Given the description of an element on the screen output the (x, y) to click on. 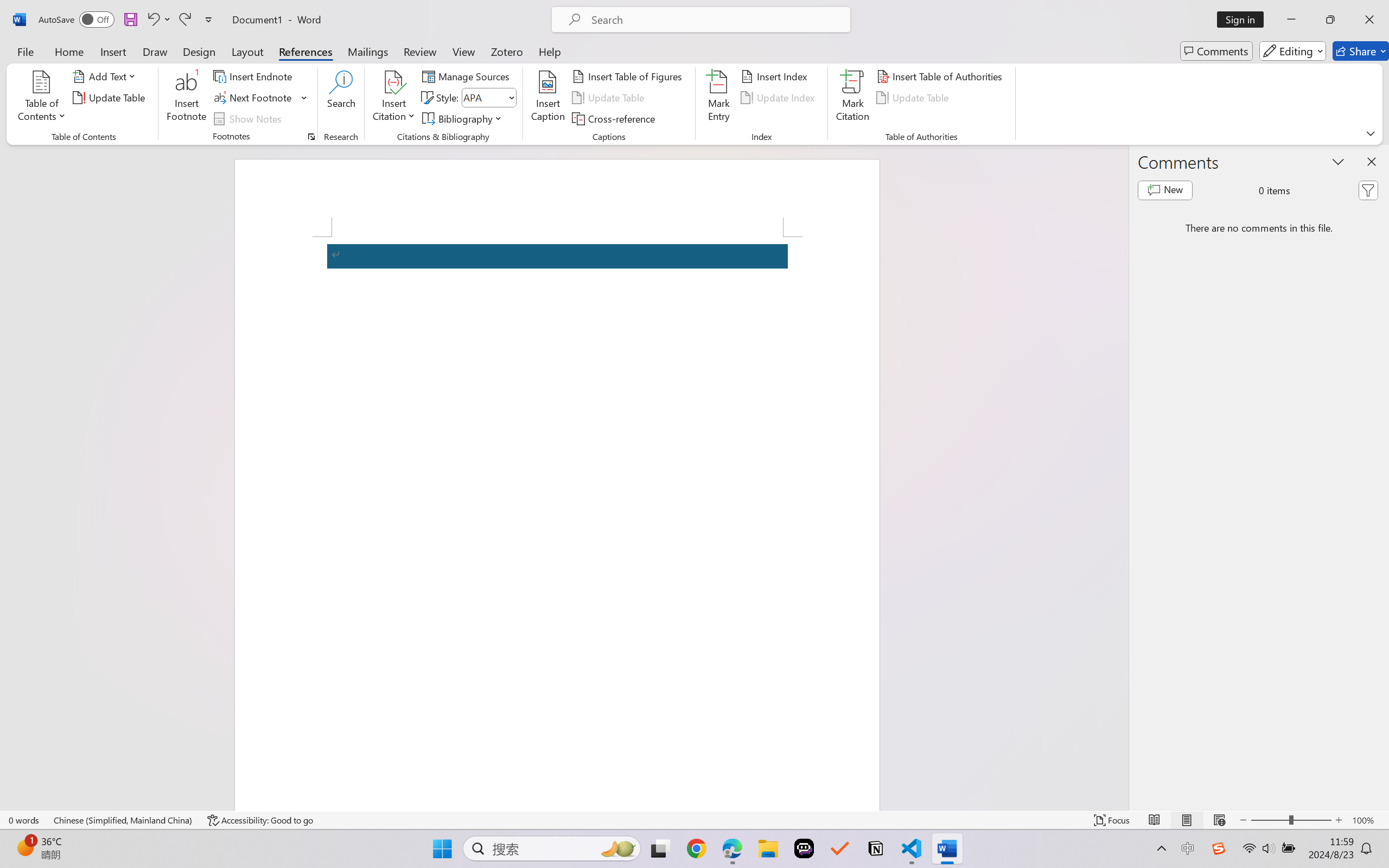
Editing (1292, 50)
Footnote and Endnote Dialog... (311, 136)
Insert Citation (393, 97)
Style (488, 97)
Undo Apply Quick Style Set (152, 19)
